Given the description of an element on the screen output the (x, y) to click on. 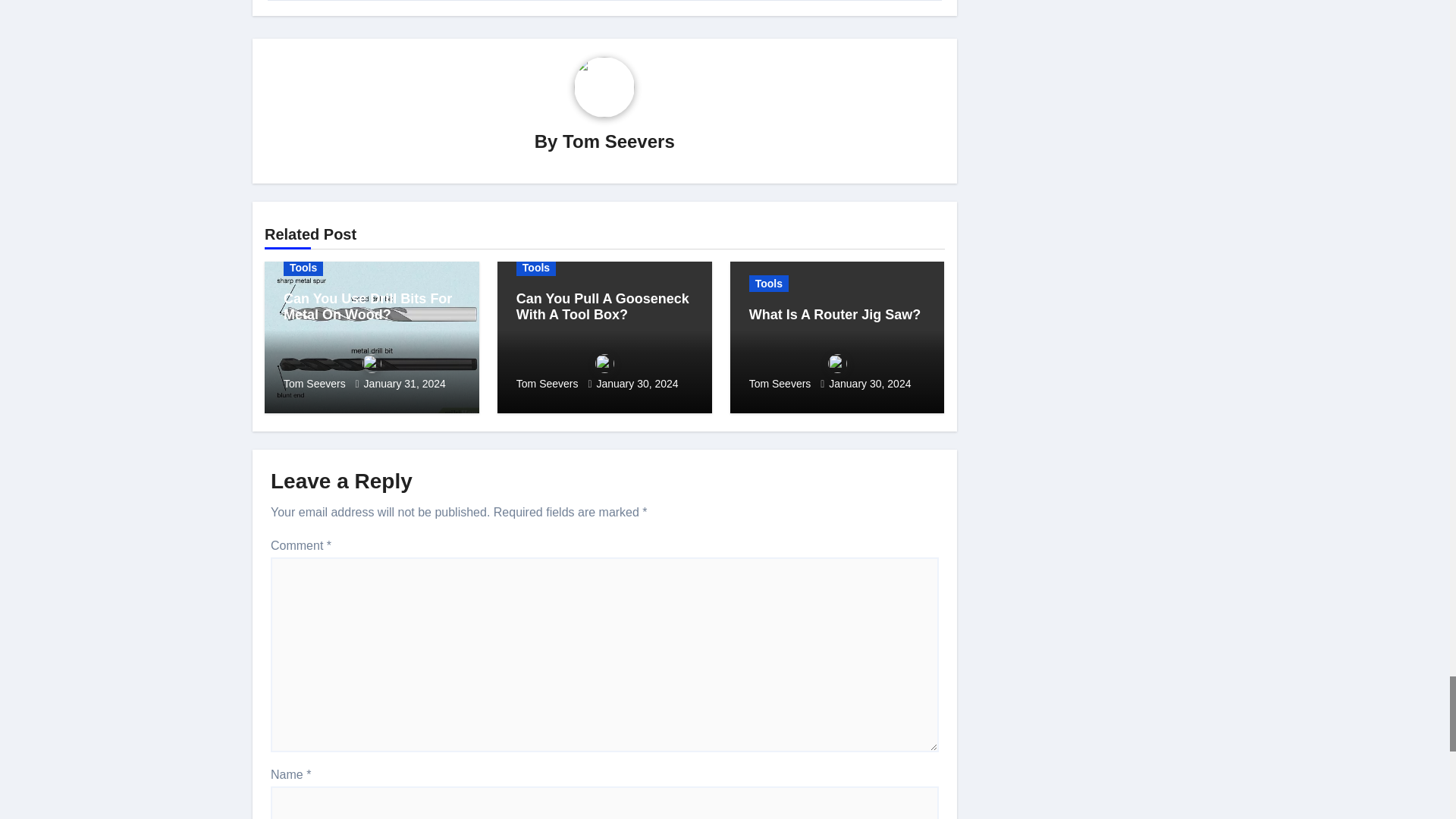
Tools (303, 267)
Permalink to: Can You Pull A Gooseneck With A Tool Box? (602, 306)
Tools (536, 267)
Tom Seevers (618, 141)
Can You Use Drill Bits For Metal On Wood? (367, 306)
Permalink to: Can You Use Drill Bits For Metal On Wood? (367, 306)
Permalink to: What Is A Router Jig Saw? (835, 314)
January 31, 2024 (404, 383)
Tom Seevers (371, 371)
